Given the description of an element on the screen output the (x, y) to click on. 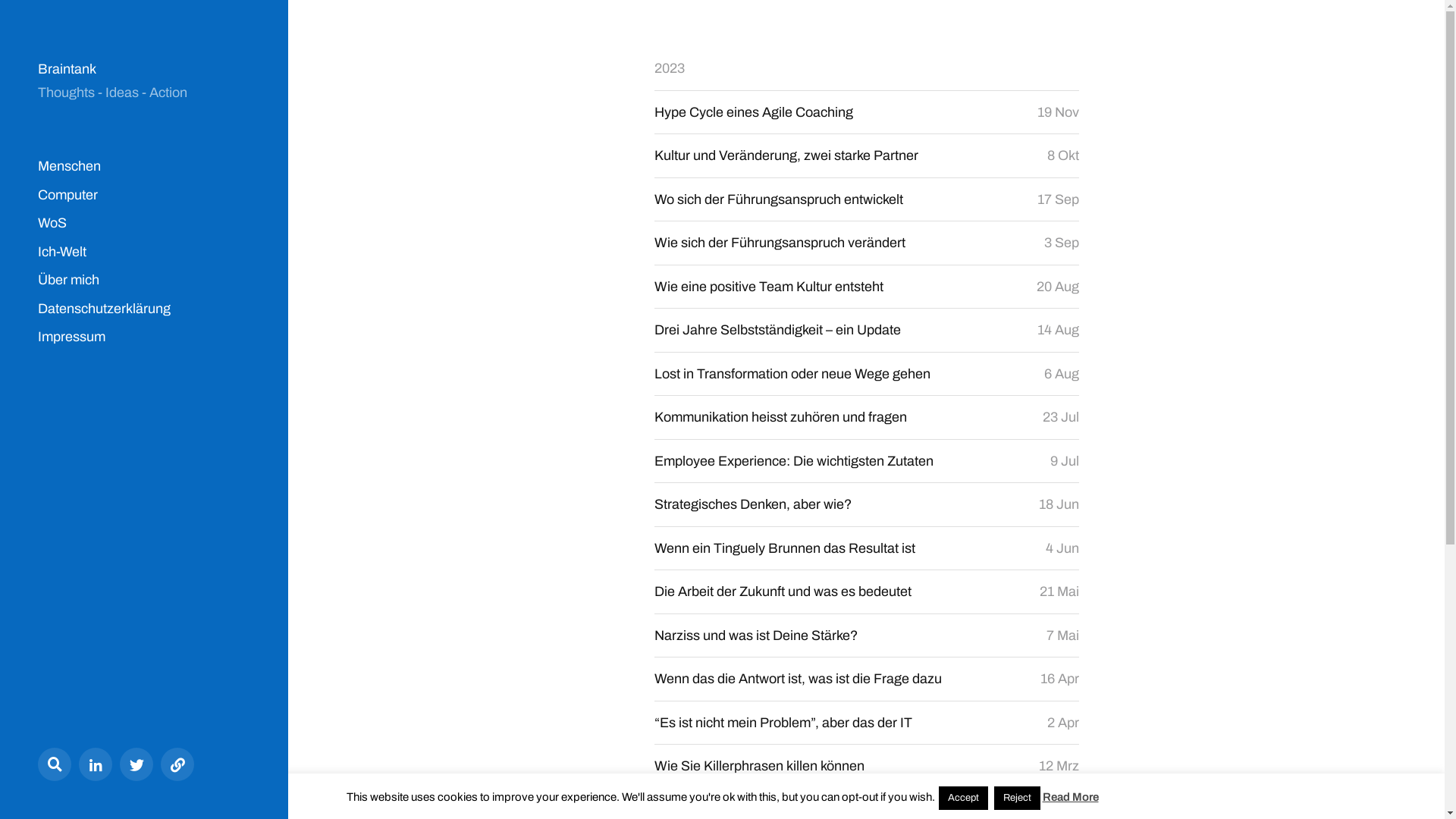
Ich-Welt Element type: text (61, 252)
Wenn das die Antwort ist, was ist die Frage dazu
16 Apr Element type: text (865, 678)
Wie eine positive Team Kultur entsteht
20 Aug Element type: text (865, 286)
Strategisches Denken, aber wie?
18 Jun Element type: text (865, 504)
Lost in Transformation oder neue Wege gehen
6 Aug Element type: text (865, 373)
Die Arbeit der Zukunft und was es bedeutet
21 Mai Element type: text (865, 591)
Read More Element type: text (1069, 796)
Braintank Element type: text (66, 69)
Computer Element type: text (67, 194)
Employee Experience: Die wichtigsten Zutaten
9 Jul Element type: text (865, 461)
Impressum Element type: text (71, 337)
WoS Element type: text (51, 223)
Menschen Element type: text (68, 166)
Reject Element type: text (1016, 797)
Accept Element type: text (963, 797)
Hype Cycle eines Agile Coaching
19 Nov Element type: text (865, 112)
2023 Element type: text (668, 67)
Wenn ein Tinguely Brunnen das Resultat ist
4 Jun Element type: text (865, 548)
